Given the description of an element on the screen output the (x, y) to click on. 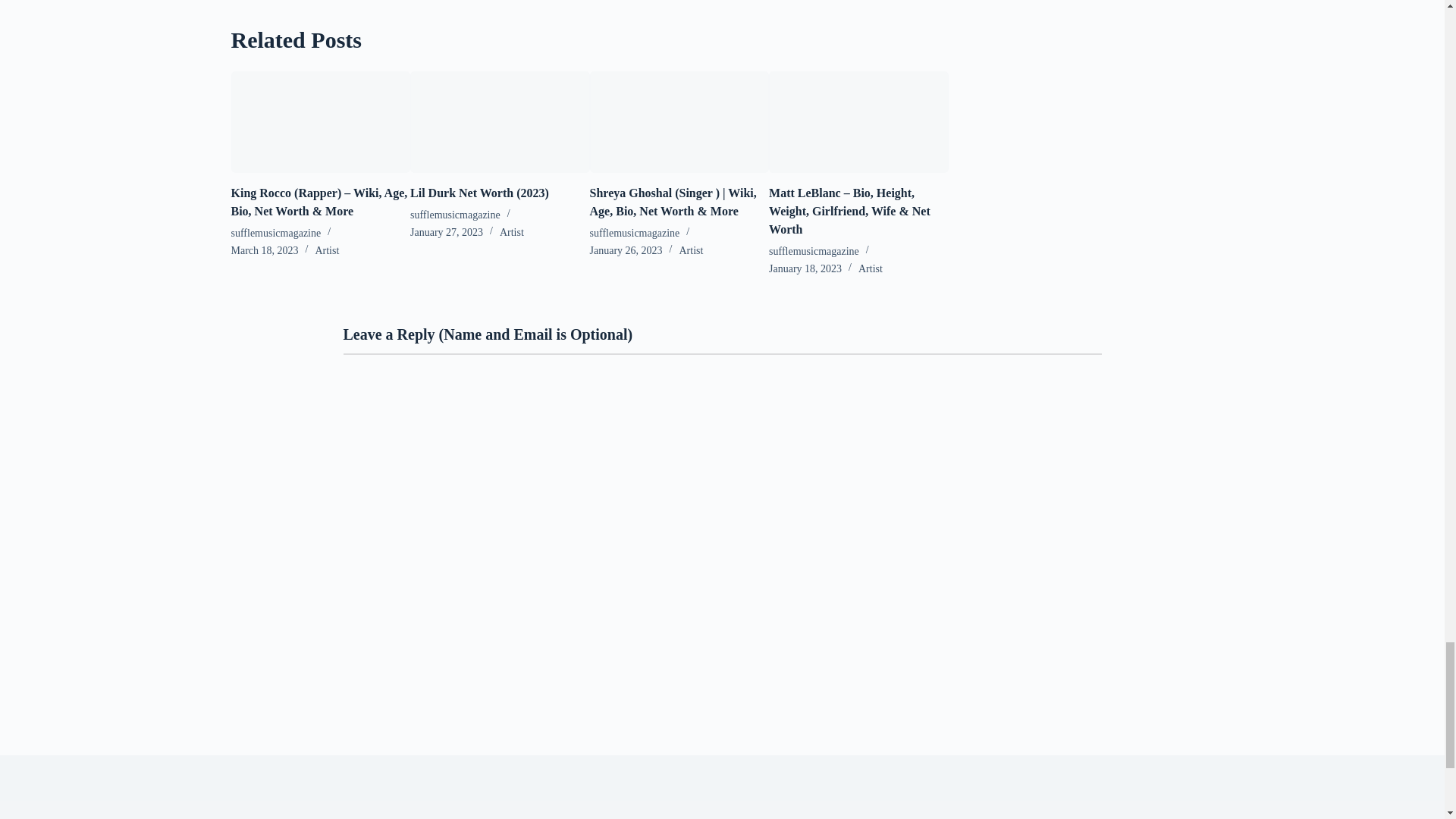
Posts by sufflemusicmagazine (813, 251)
Posts by sufflemusicmagazine (634, 233)
Posts by sufflemusicmagazine (275, 233)
Posts by sufflemusicmagazine (455, 214)
